Given the description of an element on the screen output the (x, y) to click on. 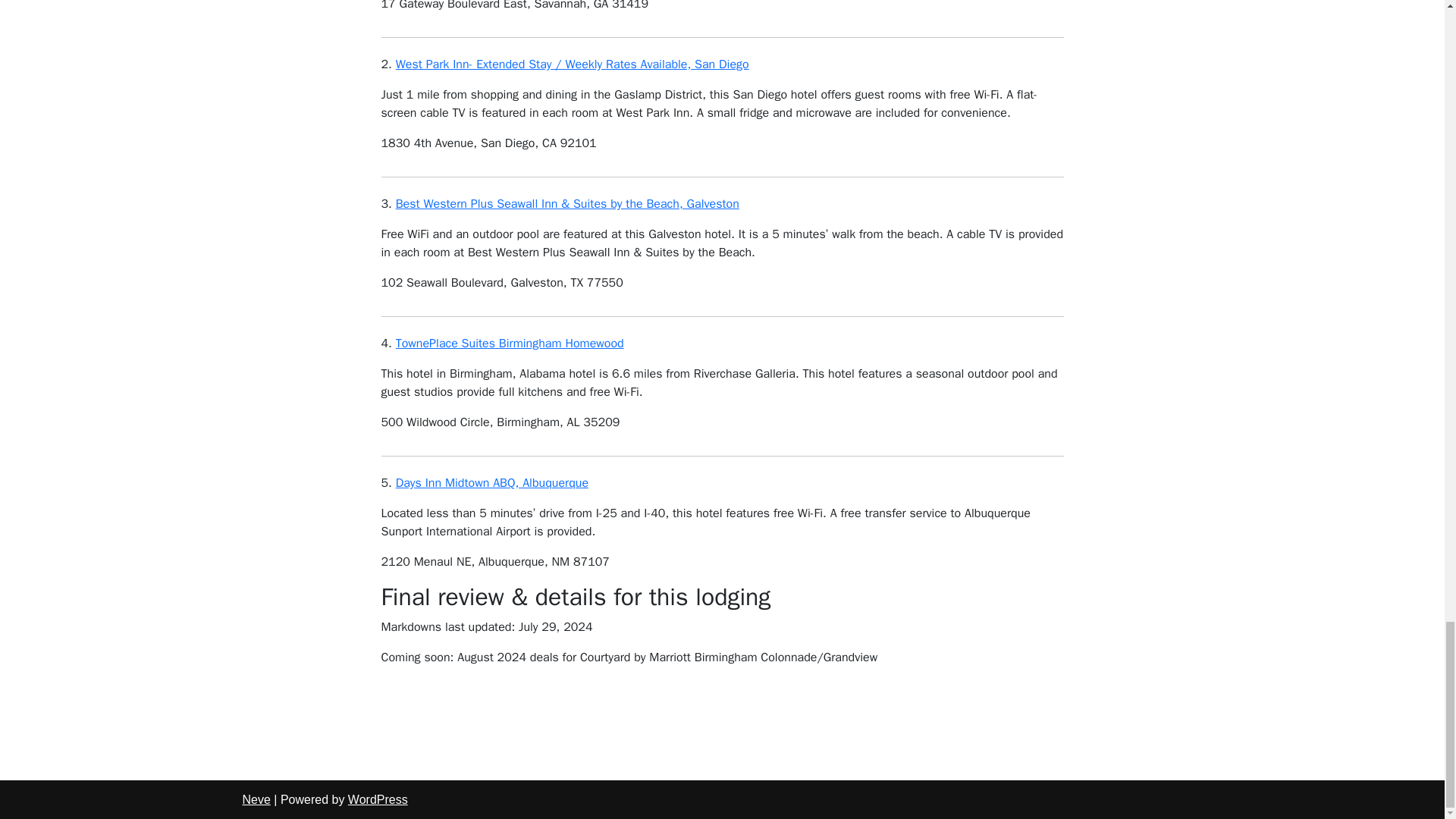
Days Inn Midtown ABQ, Albuquerque (492, 482)
TownePlace Suites Birmingham Homewood (510, 343)
Neve (256, 799)
WordPress (377, 799)
